Given the description of an element on the screen output the (x, y) to click on. 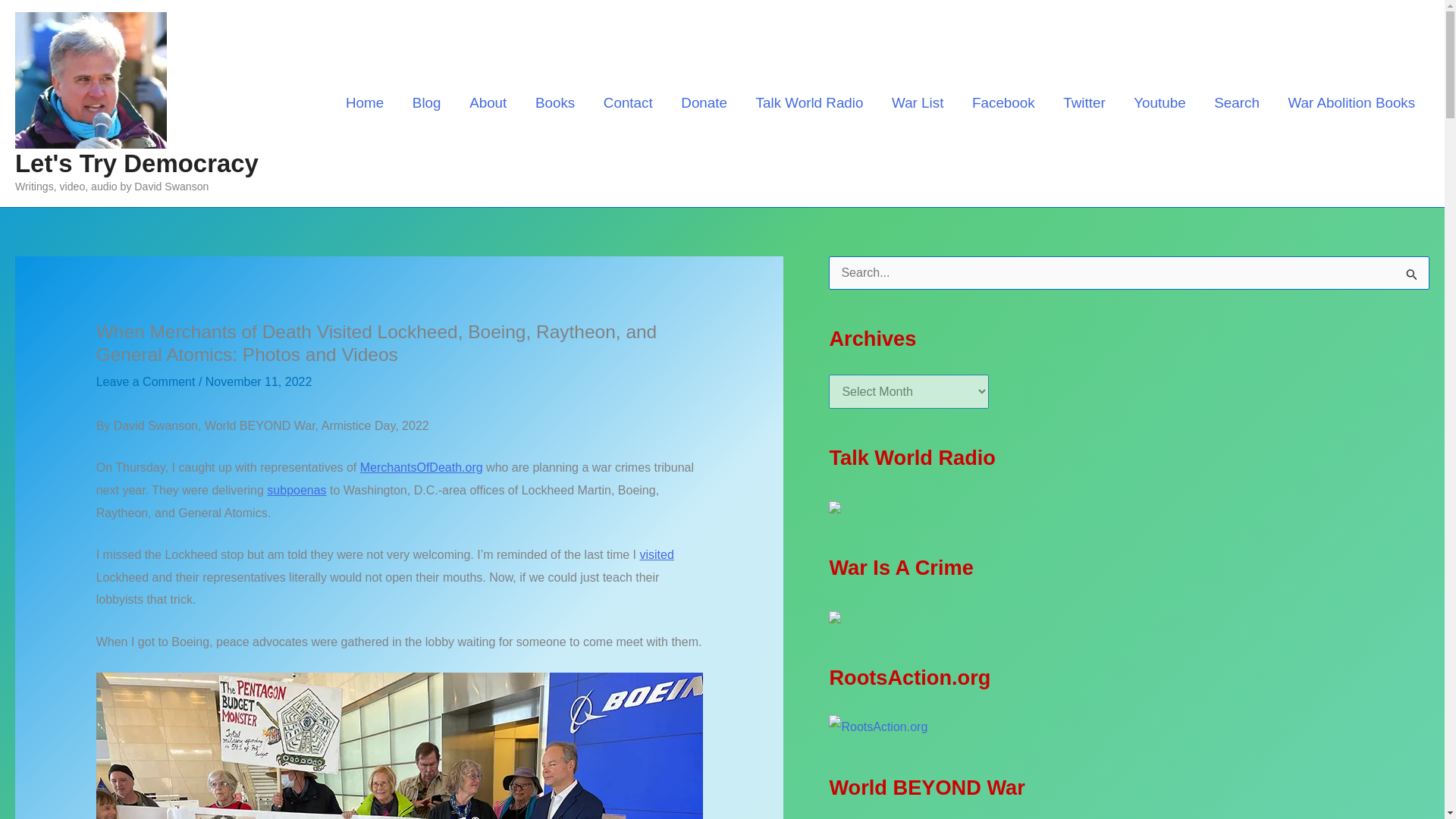
War Abolition Books (1351, 102)
Search (1235, 102)
Blog (425, 102)
subpoenas (296, 490)
visited (657, 554)
Contact (627, 102)
Talk World Radio (809, 102)
About (487, 102)
Twitter (1083, 102)
War List (917, 102)
Facebook (1003, 102)
Leave a Comment (145, 381)
MerchantsOfDeath.org (421, 467)
Donate (703, 102)
Youtube (1159, 102)
